Given the description of an element on the screen output the (x, y) to click on. 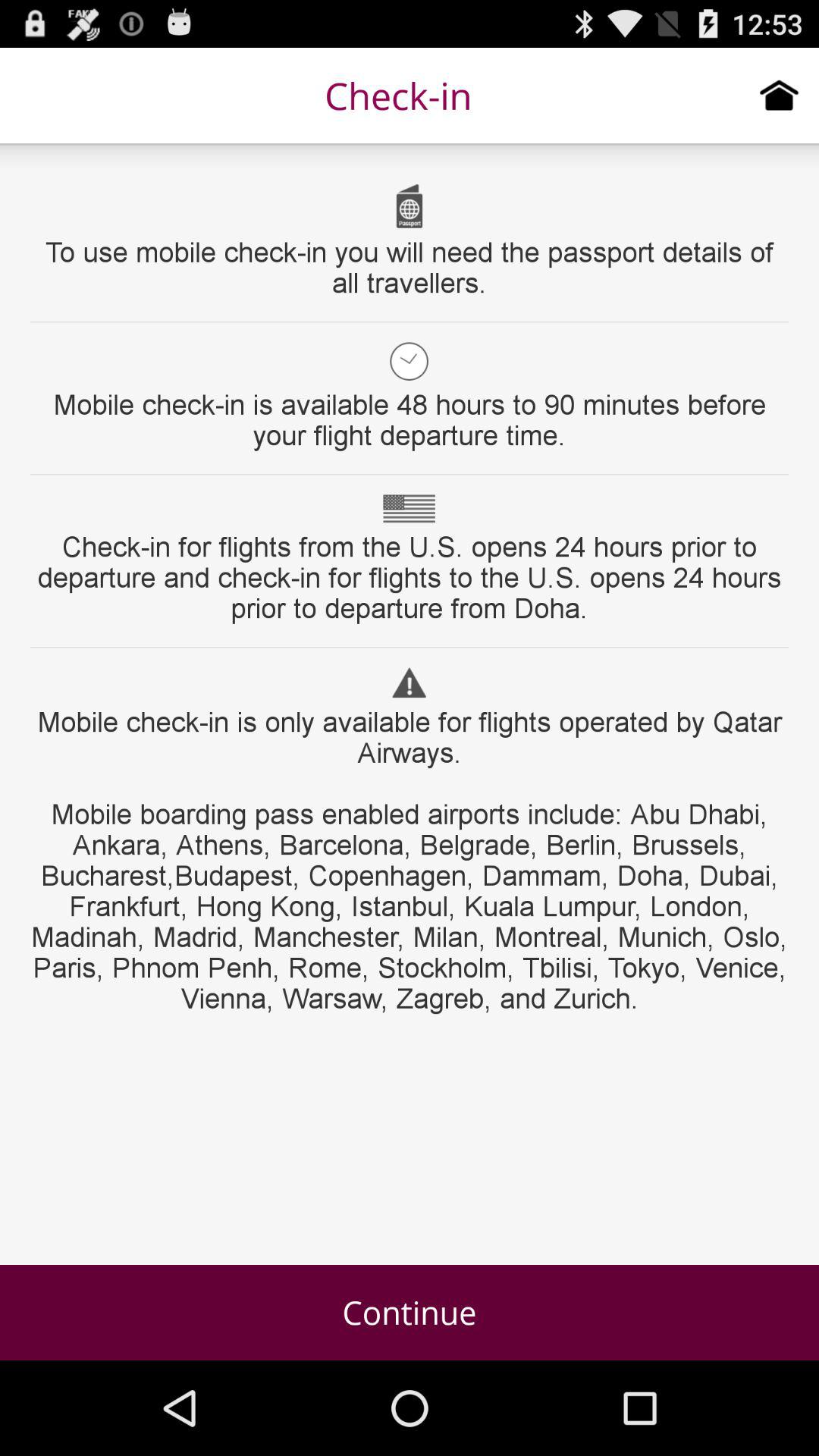
go to home page (779, 95)
